Given the description of an element on the screen output the (x, y) to click on. 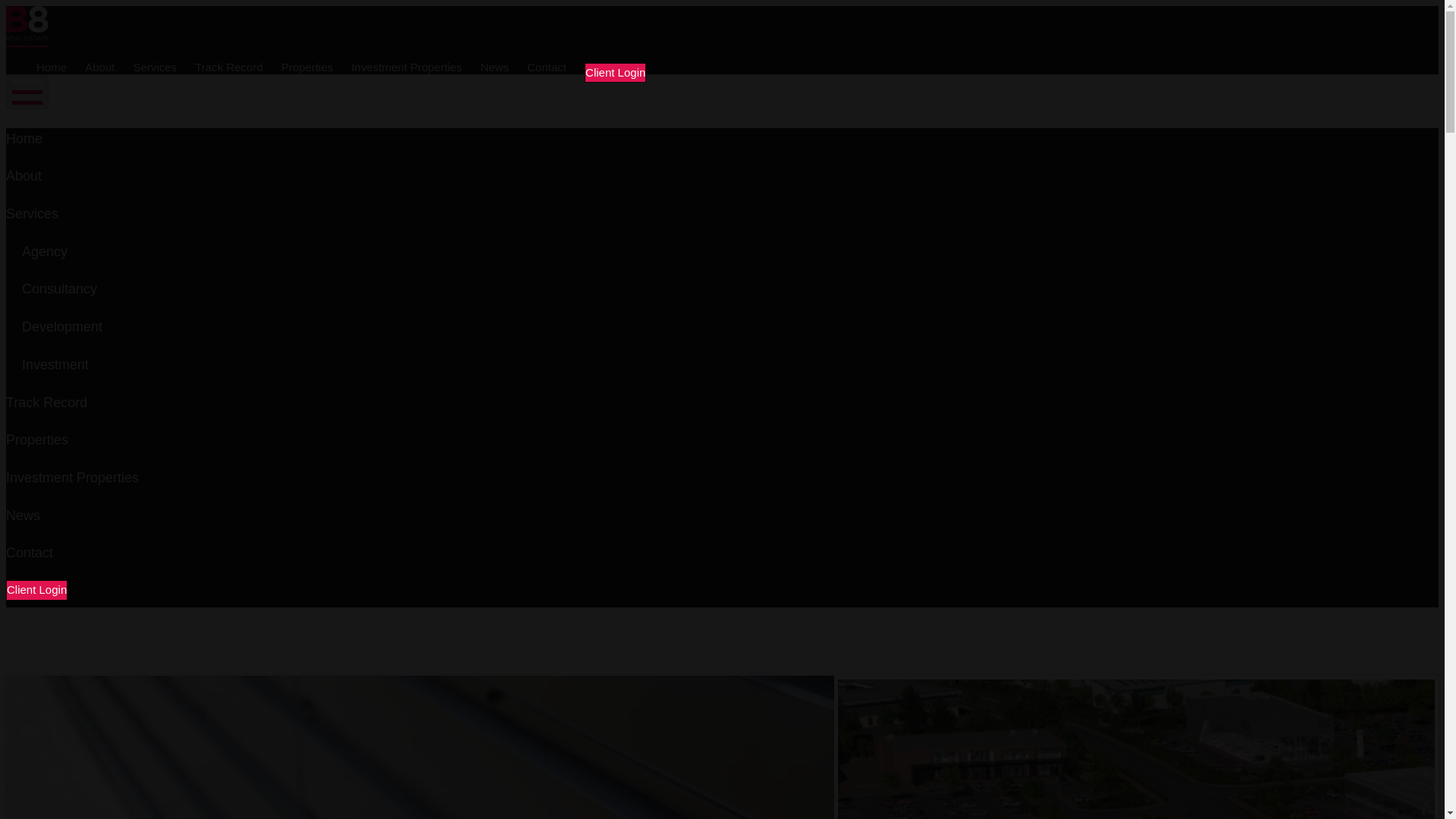
Track Record (228, 68)
About (23, 175)
B8 Real Estate (27, 26)
Investment Properties (71, 477)
Contact (28, 552)
Main menu (26, 91)
Consultancy (59, 288)
Track Record (46, 401)
Agency (43, 251)
Properties (36, 439)
Client Login (615, 73)
Properties (307, 68)
Home (23, 138)
Investment (54, 364)
